Given the description of an element on the screen output the (x, y) to click on. 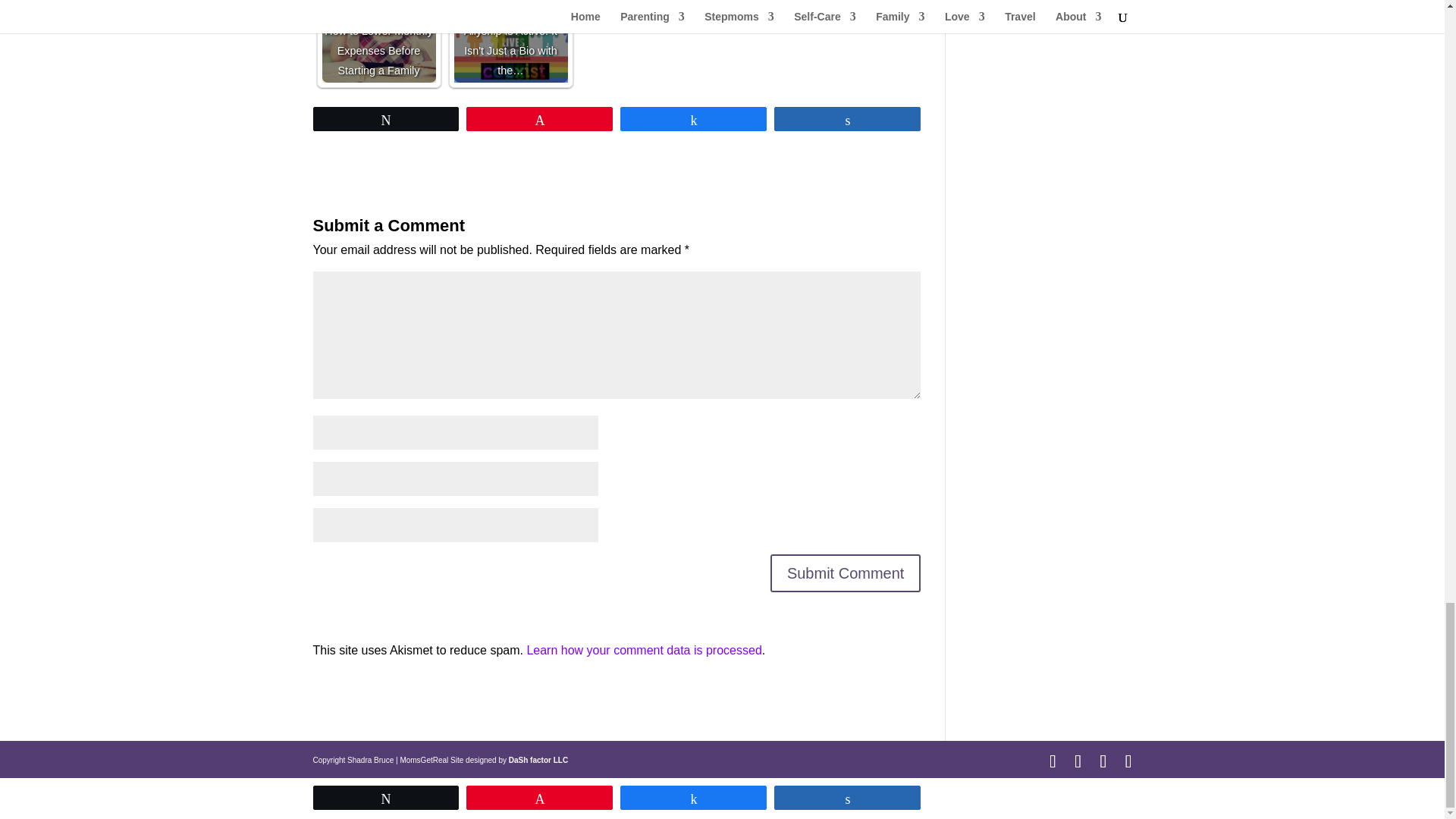
Submit Comment (845, 573)
How to Lower Monthly Expenses Before Starting a Family (378, 41)
